Given the description of an element on the screen output the (x, y) to click on. 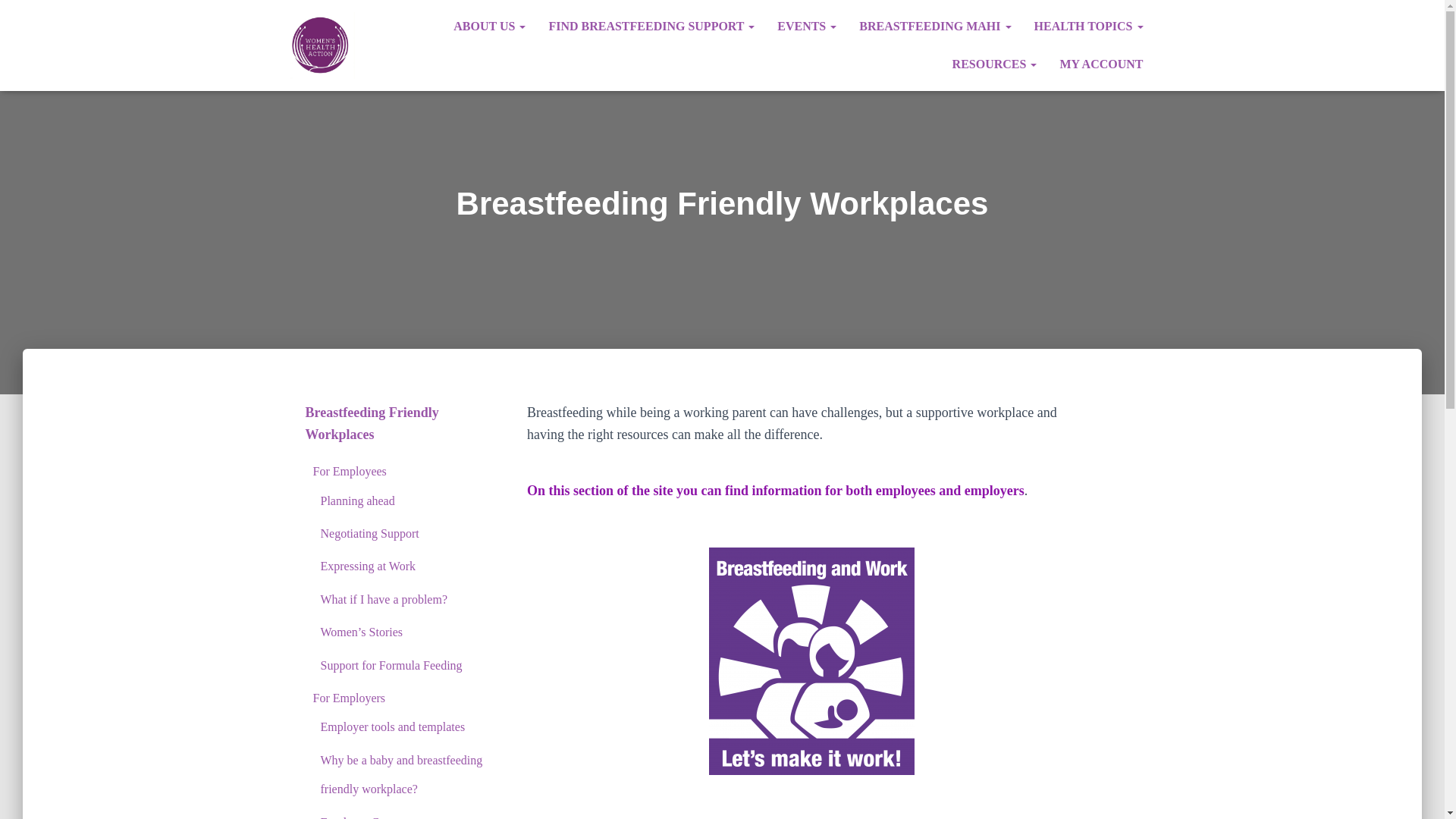
About Us (489, 26)
FIND BREASTFEEDING SUPPORT (651, 26)
Find Breastfeeding Support (651, 26)
BREASTFEEDING MAHI (934, 26)
Womens Health Action (322, 45)
EVENTS (806, 26)
ABOUT US (489, 26)
HEALTH TOPICS (1088, 26)
Events (806, 26)
